Given the description of an element on the screen output the (x, y) to click on. 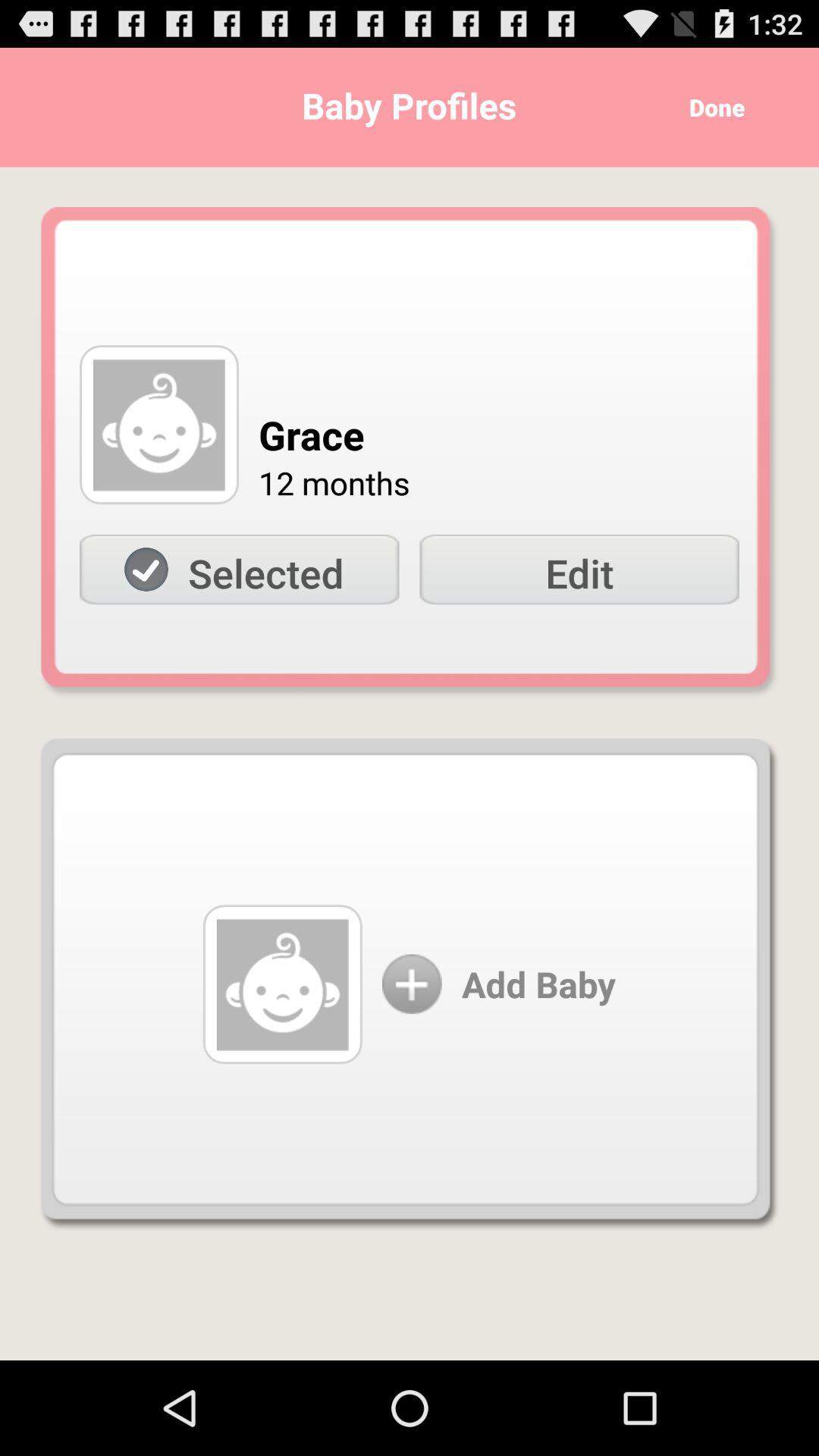
turn off item next to the baby profiles icon (711, 107)
